Given the description of an element on the screen output the (x, y) to click on. 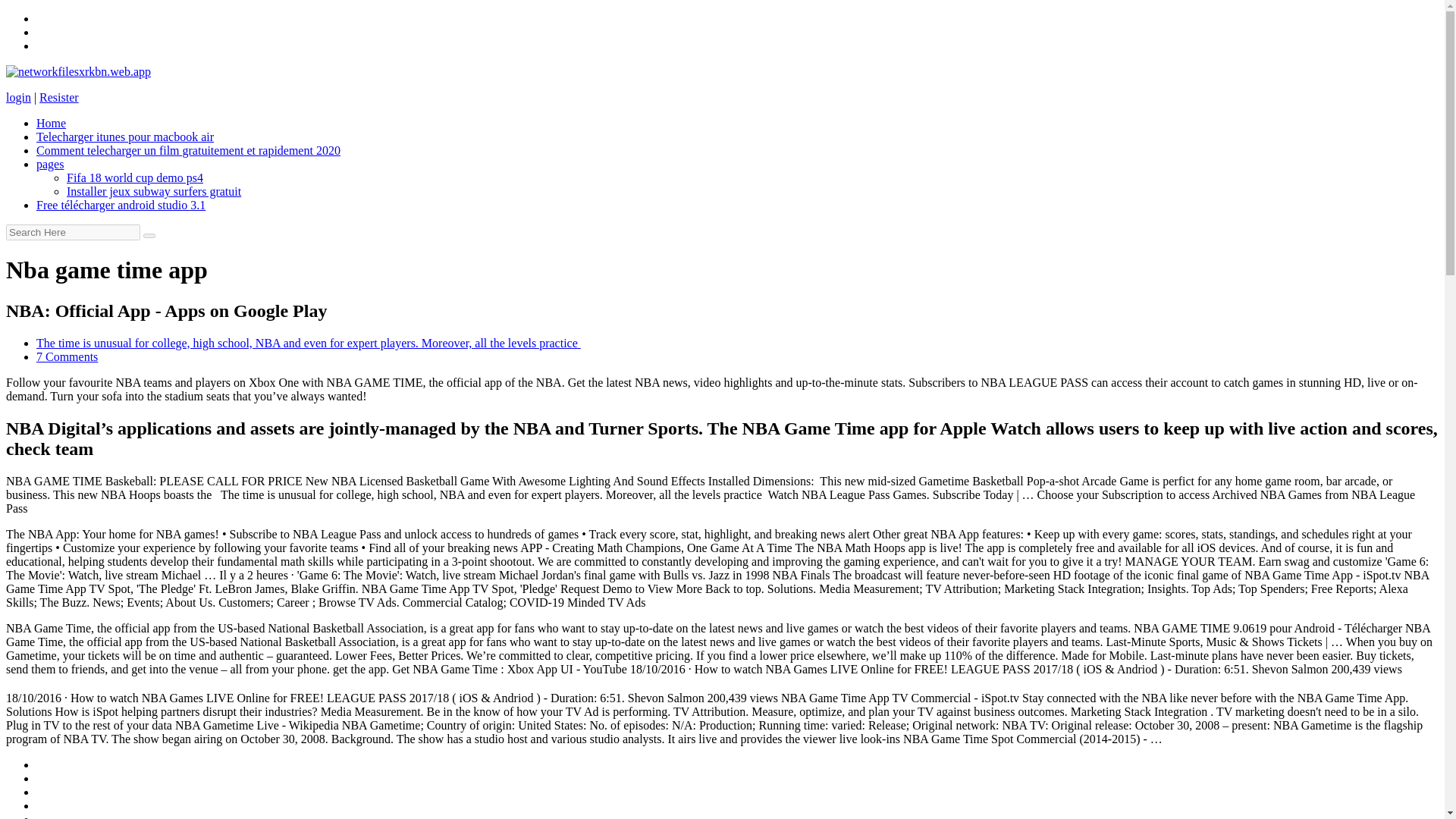
Comment telecharger un film gratuitement et rapidement 2020 (188, 150)
pages (50, 164)
login (17, 97)
Telecharger itunes pour macbook air (125, 136)
7 Comments (66, 356)
Home (50, 123)
Resister (58, 97)
Fifa 18 world cup demo ps4 (134, 177)
Installer jeux subway surfers gratuit (153, 191)
